Given the description of an element on the screen output the (x, y) to click on. 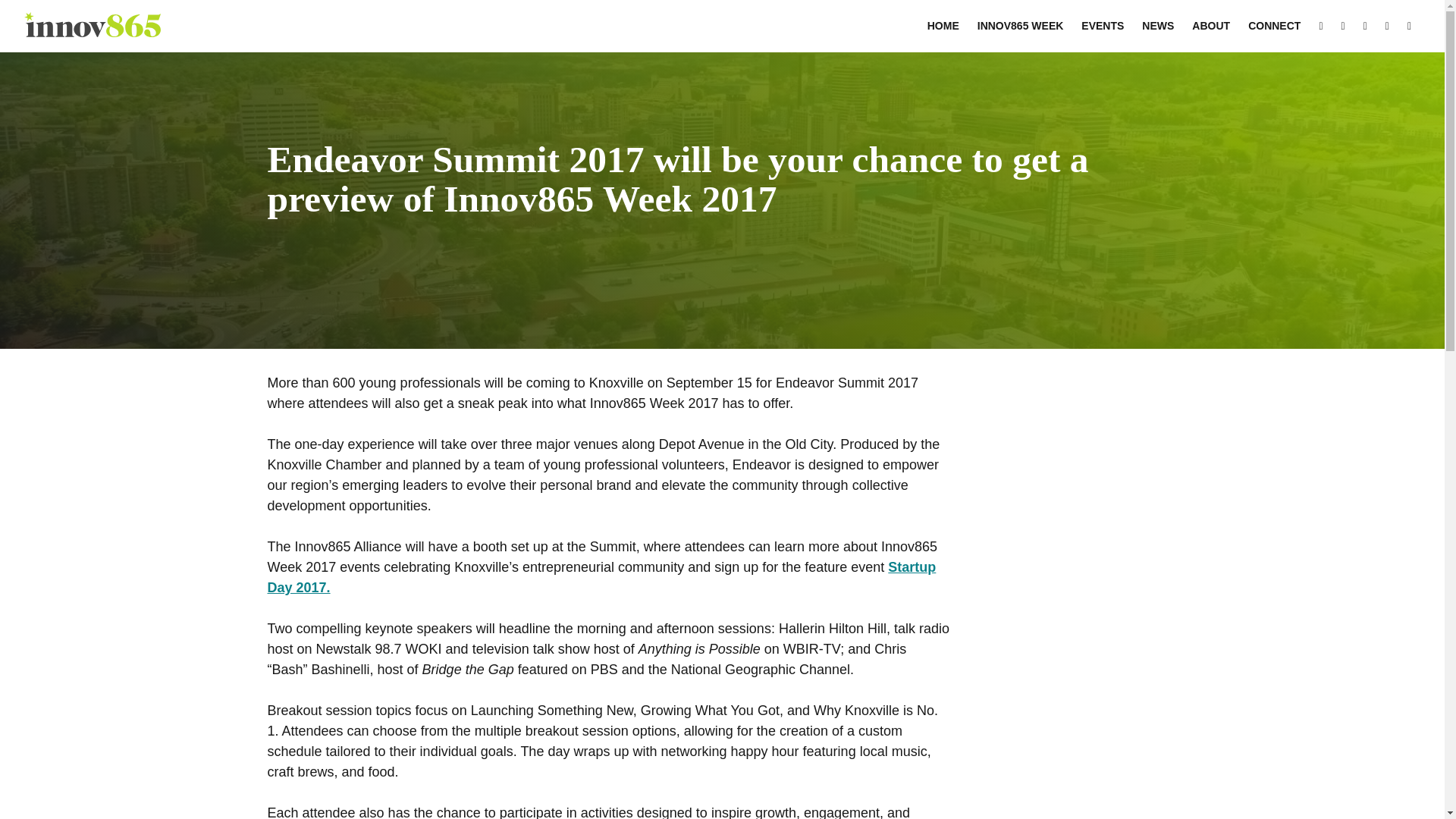
INNOV865 WEEK (1020, 25)
YOUTUBE (1409, 25)
NEWS (1157, 25)
ABOUT (1210, 25)
Innov865 (92, 32)
INSTAGRAM (1343, 25)
HOME (943, 25)
FACEBOOK (1320, 25)
EVENTS (1101, 25)
Innov865 (92, 32)
